Given the description of an element on the screen output the (x, y) to click on. 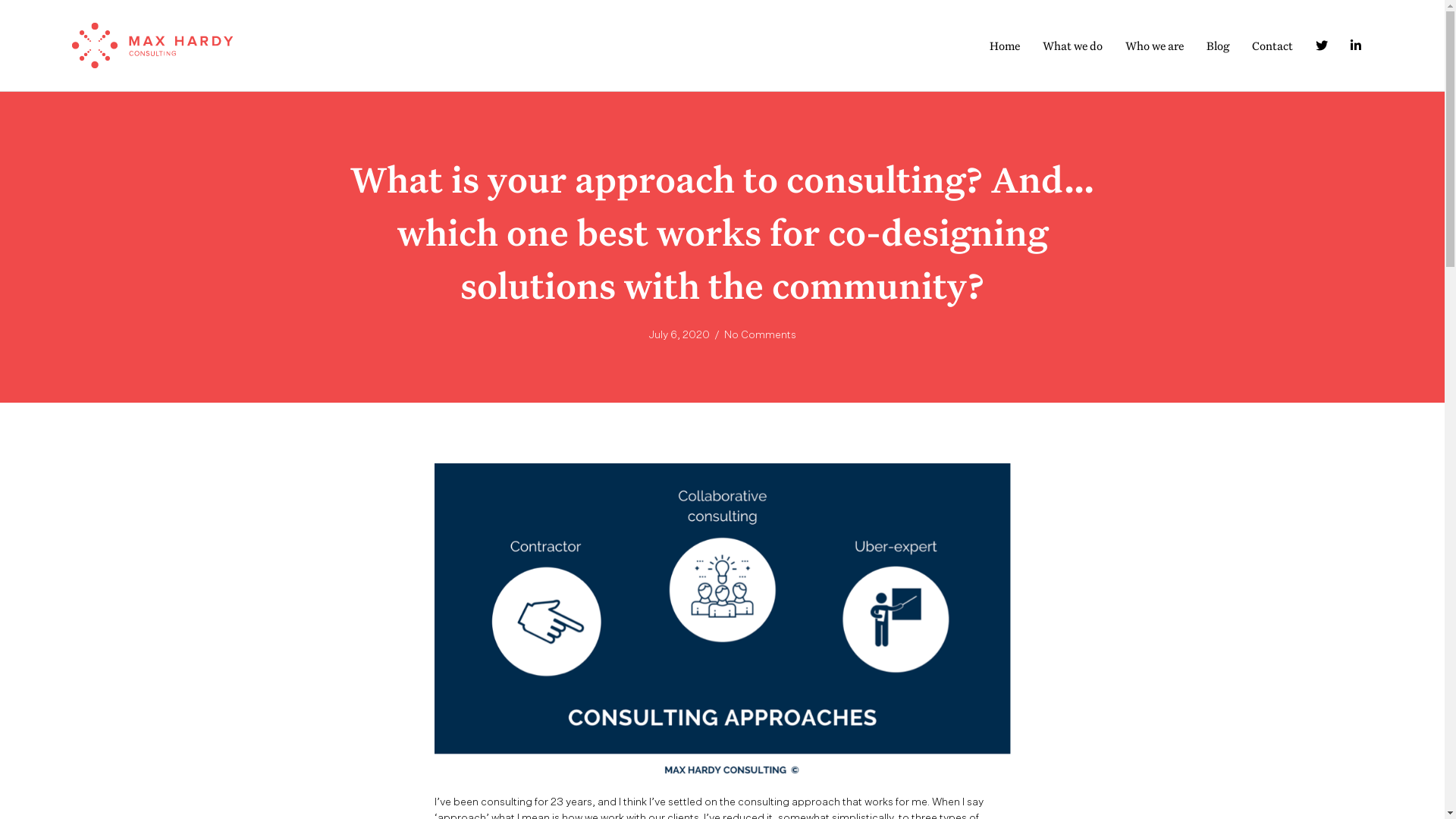
Blog Element type: text (1217, 45)
Contact Element type: text (1272, 45)
No Comments Element type: text (759, 333)
Who we are Element type: text (1154, 45)
Home Element type: text (1004, 45)
What we do Element type: text (1072, 45)
